Given the description of an element on the screen output the (x, y) to click on. 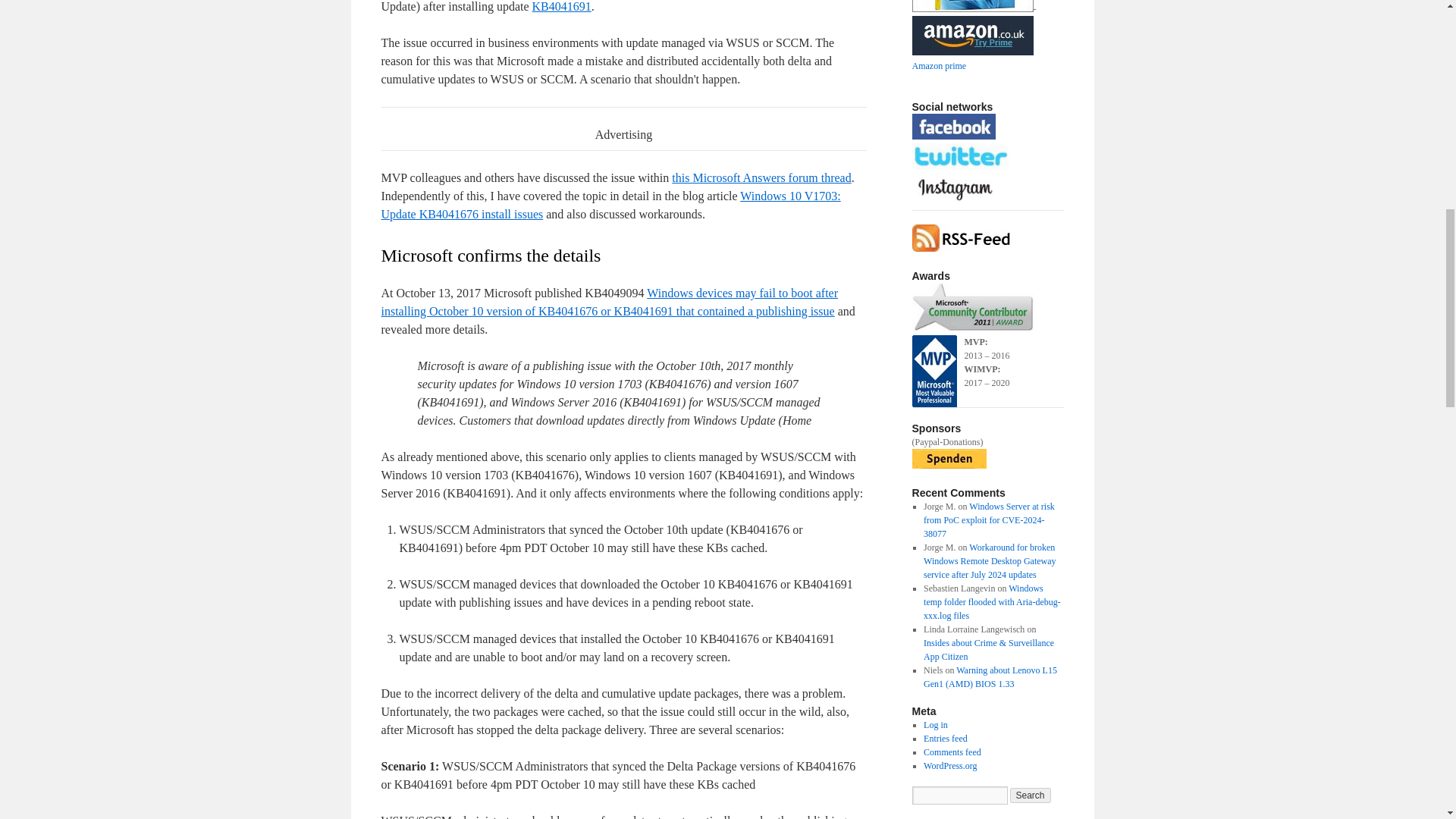
KB4041691 (561, 6)
Windows 10 V1703: Update KB4041676 install issues (610, 204)
Search (1030, 795)
this Microsoft Answers forum thread (760, 177)
